Given the description of an element on the screen output the (x, y) to click on. 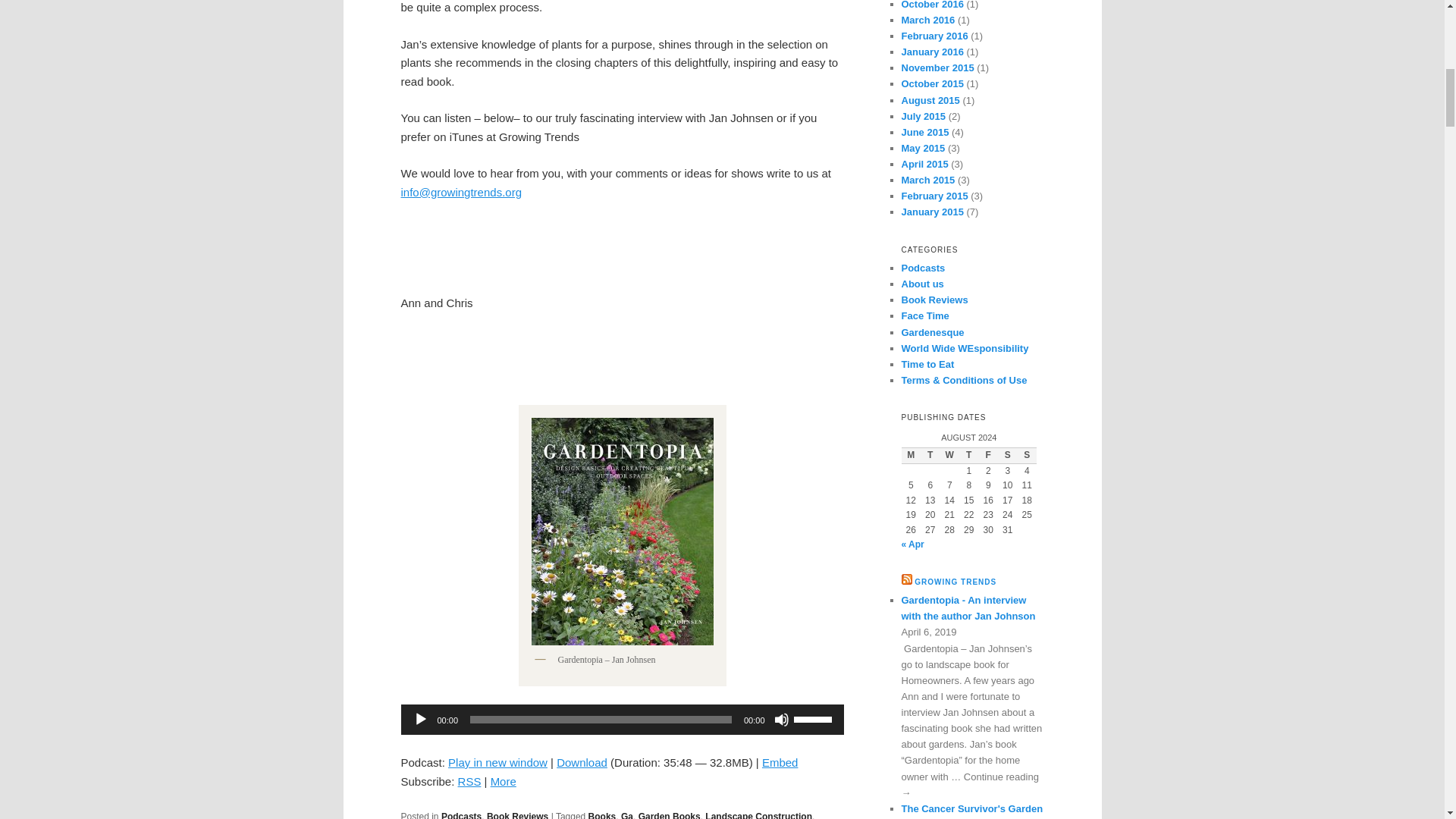
More (503, 780)
Embed (779, 762)
Embed (779, 762)
Download (581, 762)
Landscape Construction (758, 815)
Ga (627, 815)
Play in new window (497, 762)
Books (601, 815)
Book Reviews (517, 815)
More (503, 780)
